Given the description of an element on the screen output the (x, y) to click on. 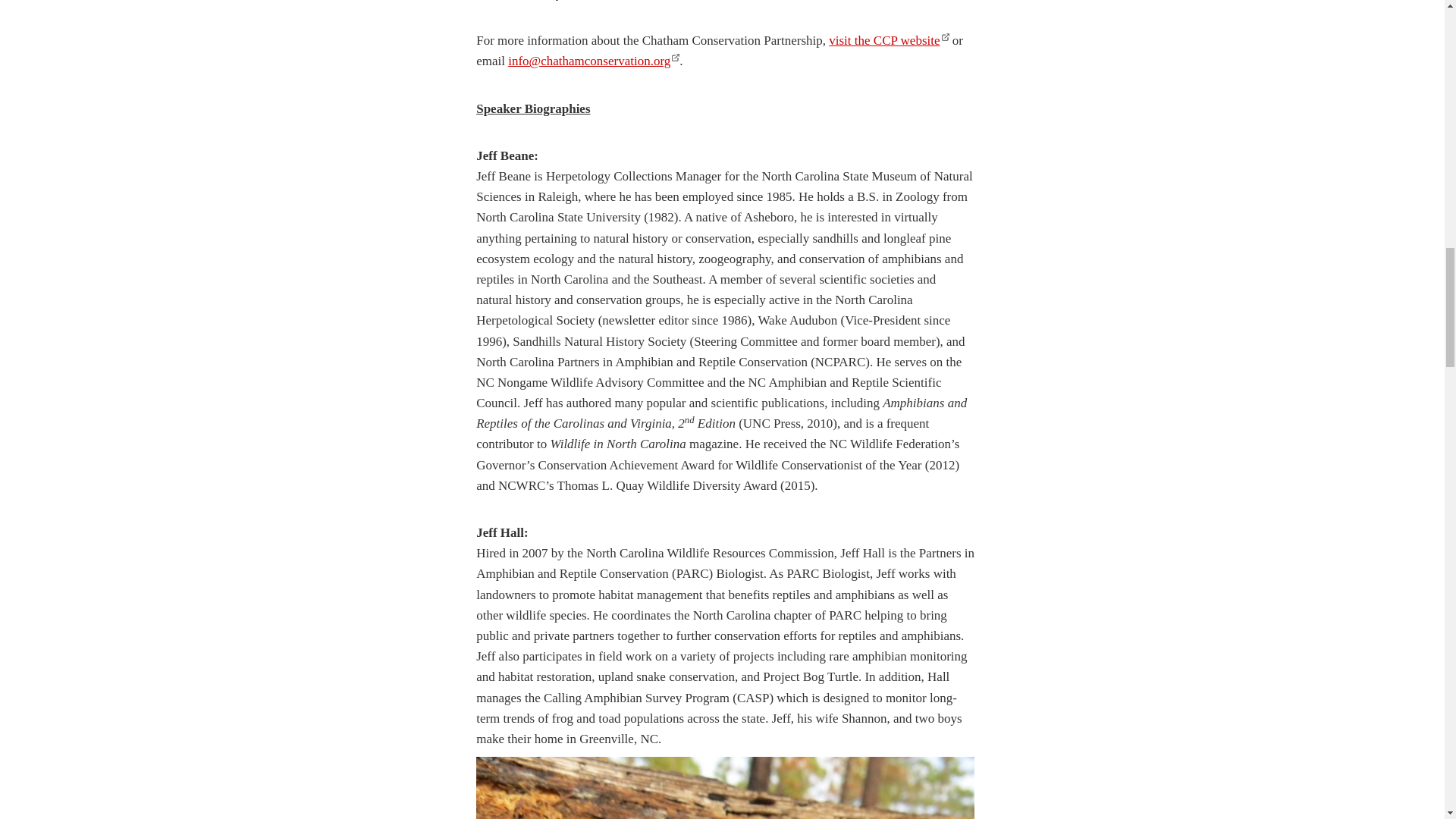
visit the CCP website (888, 40)
